Given the description of an element on the screen output the (x, y) to click on. 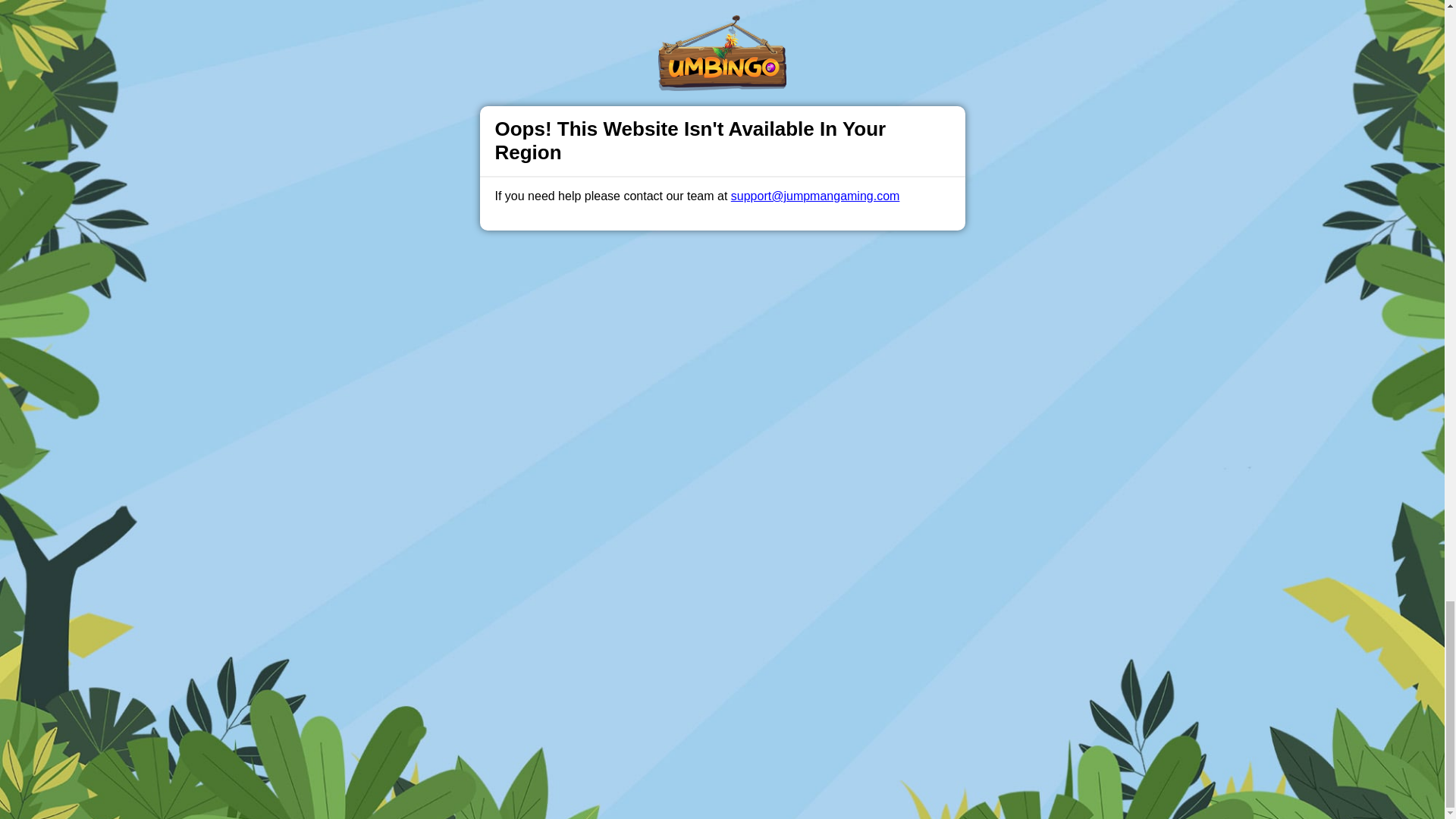
Fire n Hot (1014, 302)
Help (489, 476)
Privacy Policy (671, 476)
Responsible Gaming (407, 476)
Blog (738, 476)
Back To All Games (721, 378)
Back To All Games (722, 378)
